Given the description of an element on the screen output the (x, y) to click on. 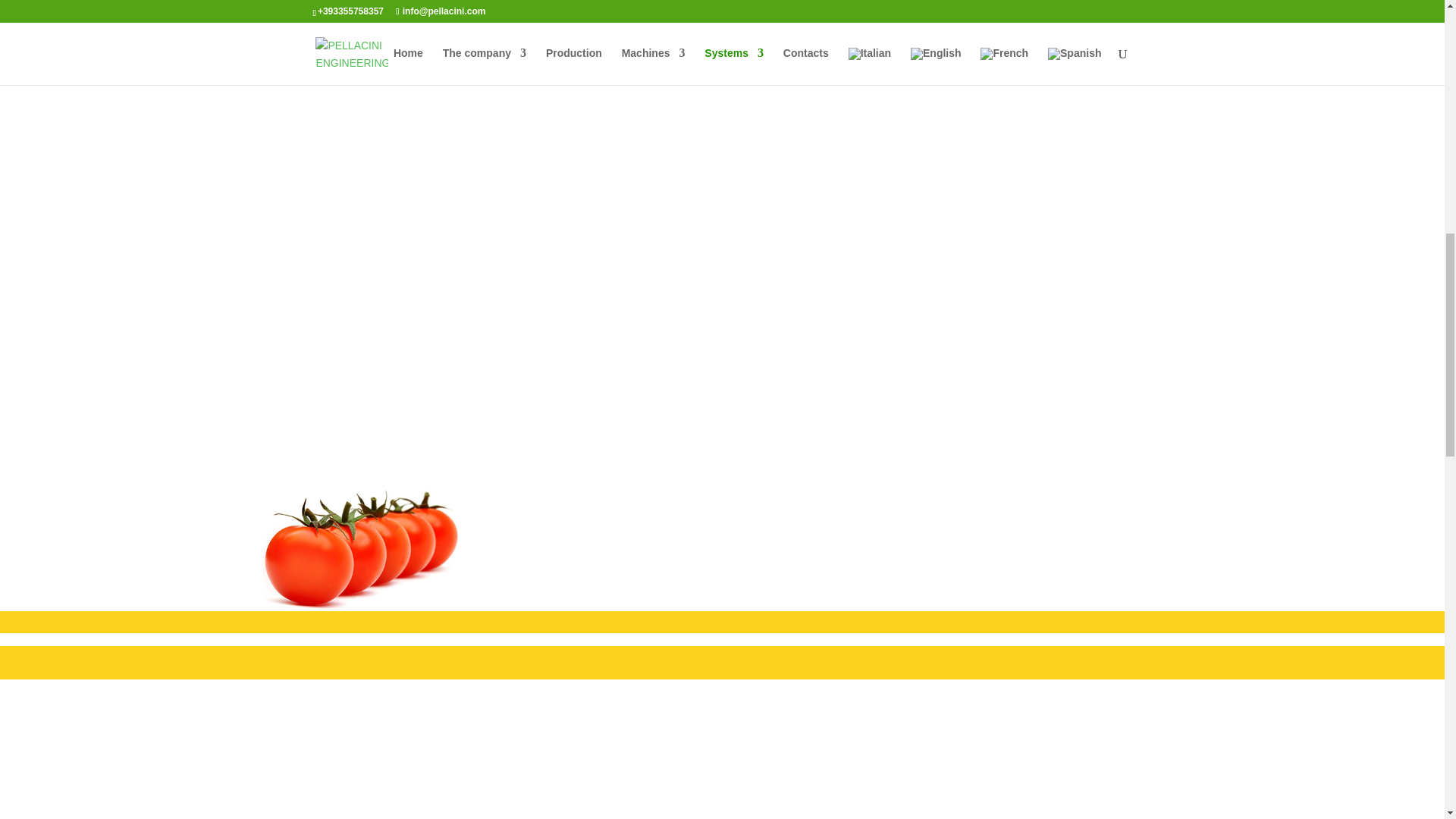
tomatoes (361, 549)
